Given the description of an element on the screen output the (x, y) to click on. 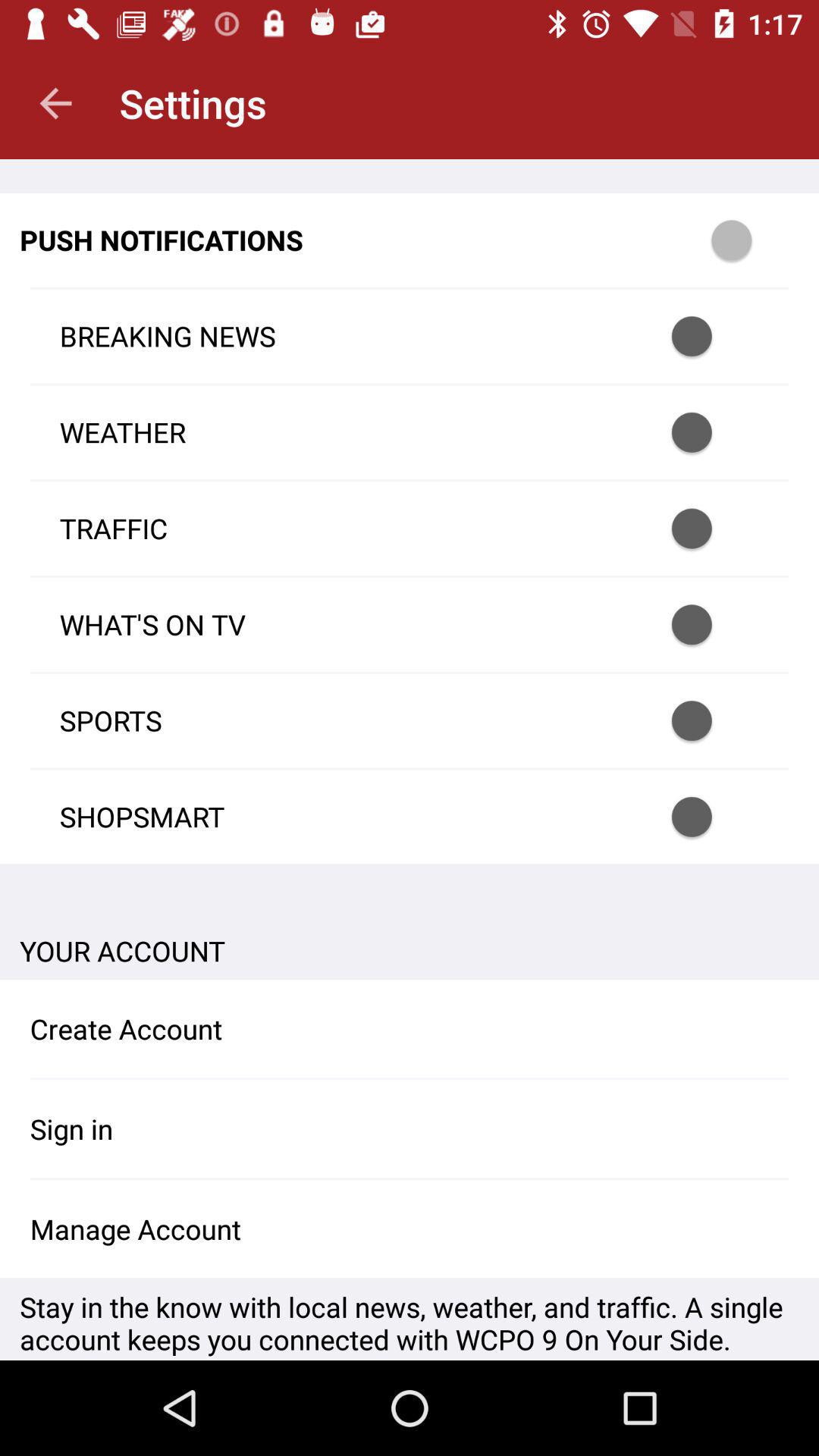
toggle shopsmart notifications (711, 816)
